Given the description of an element on the screen output the (x, y) to click on. 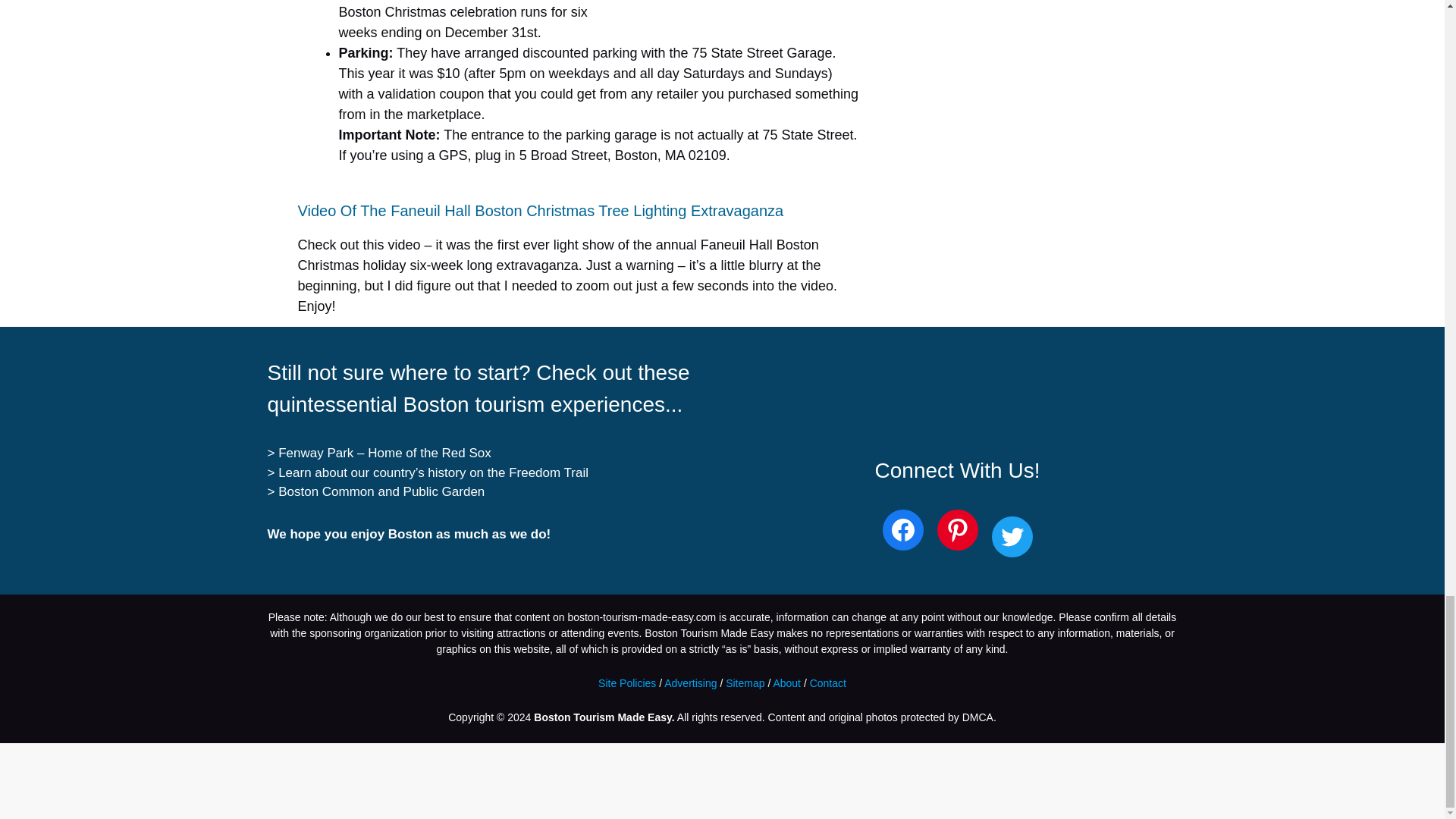
Boston Common and Public Garden (381, 491)
Contact (827, 683)
Site Policies (627, 683)
About (786, 683)
Advertising (689, 683)
Sitemap (744, 683)
